Given the description of an element on the screen output the (x, y) to click on. 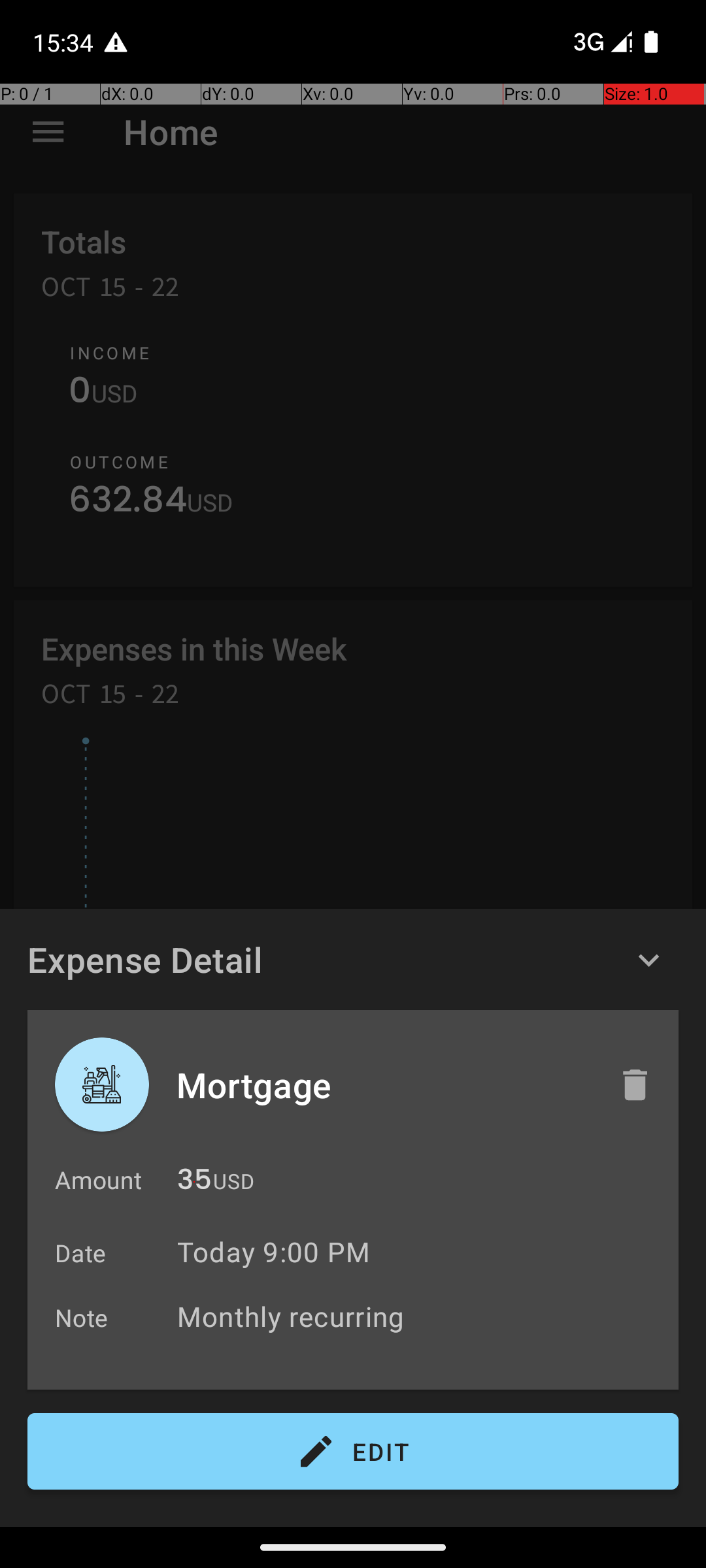
Mortgage Element type: android.widget.TextView (383, 1084)
Today 9:00 PM Element type: android.widget.TextView (273, 1251)
Monthly recurring Element type: android.widget.TextView (420, 1315)
